Given the description of an element on the screen output the (x, y) to click on. 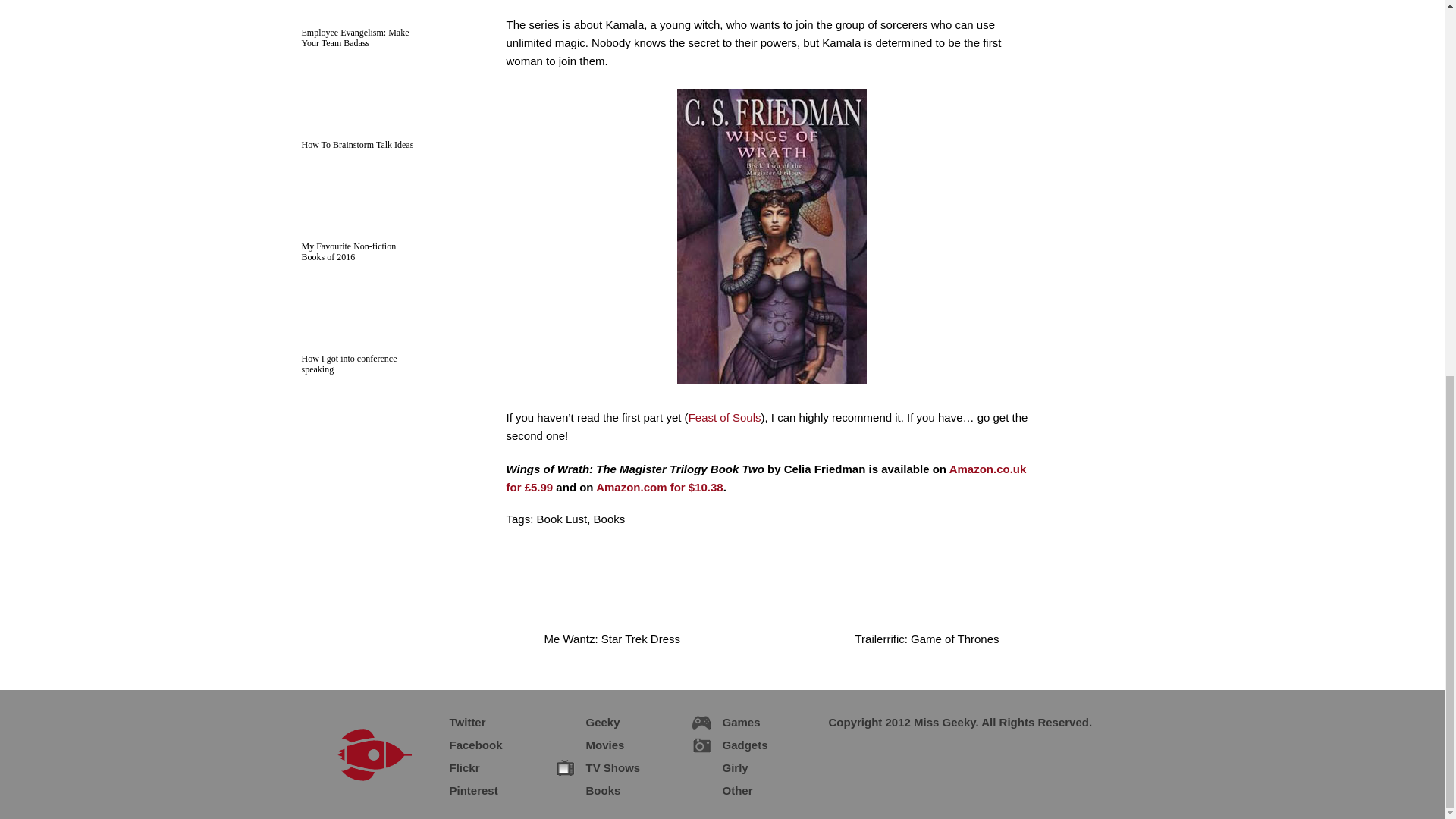
How To Brainstorm Talk Ideas (357, 144)
Geeky (590, 720)
Pinterest (461, 788)
Books (610, 518)
Book Lust (562, 518)
Trailerrific: Game of Thrones (941, 647)
Me Wantz: Star Trek Dress (600, 647)
How I got into conference speaking (349, 363)
Movies (592, 743)
Flickr (451, 765)
